Given the description of an element on the screen output the (x, y) to click on. 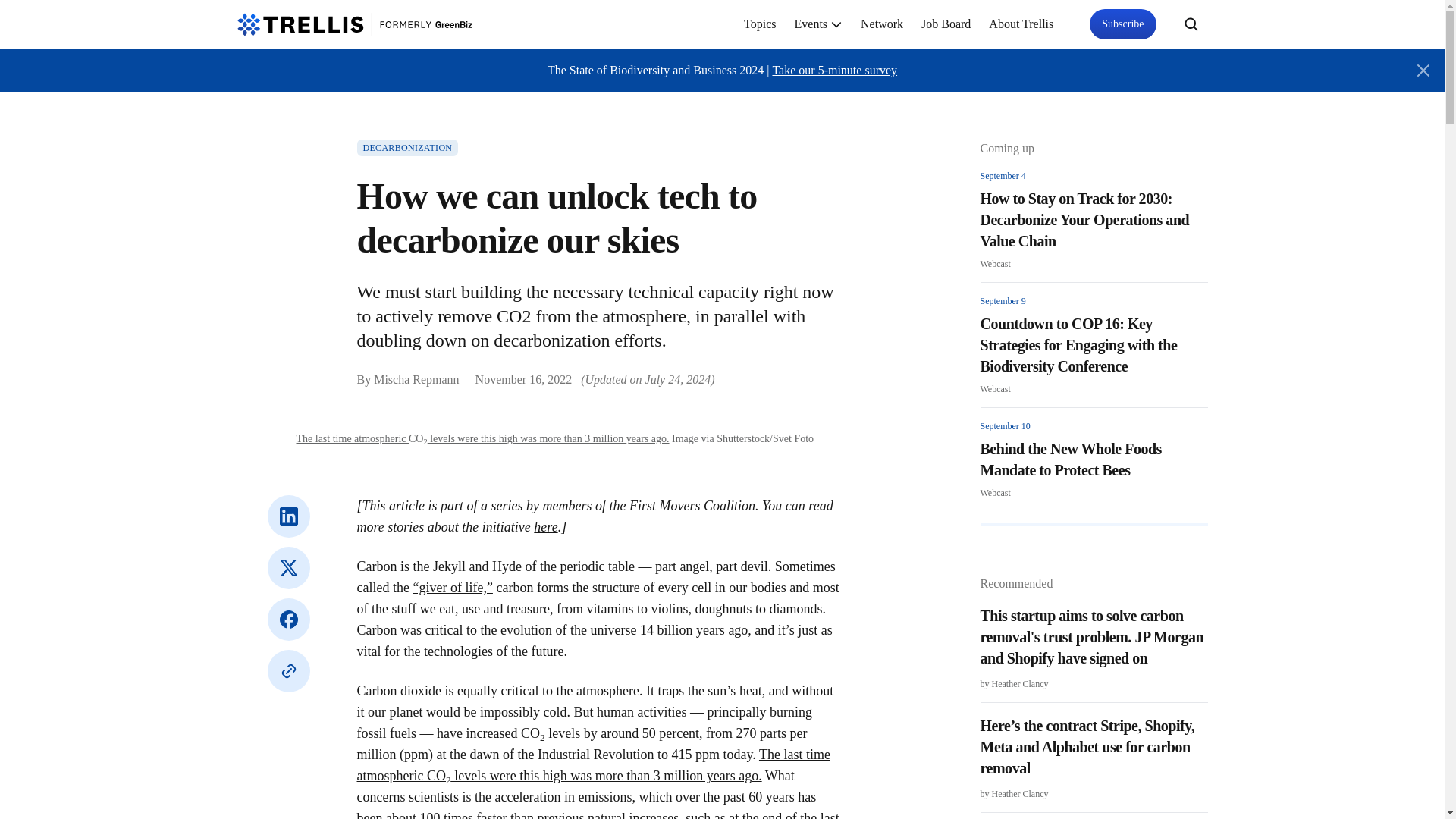
here (545, 526)
levels were this high was more than 3 million years ago. (548, 438)
Facebook (287, 619)
Topics (759, 24)
Events (818, 24)
Website (287, 671)
Mischa Repmann (416, 379)
Job Board (945, 24)
LinkedIn (287, 516)
